Given the description of an element on the screen output the (x, y) to click on. 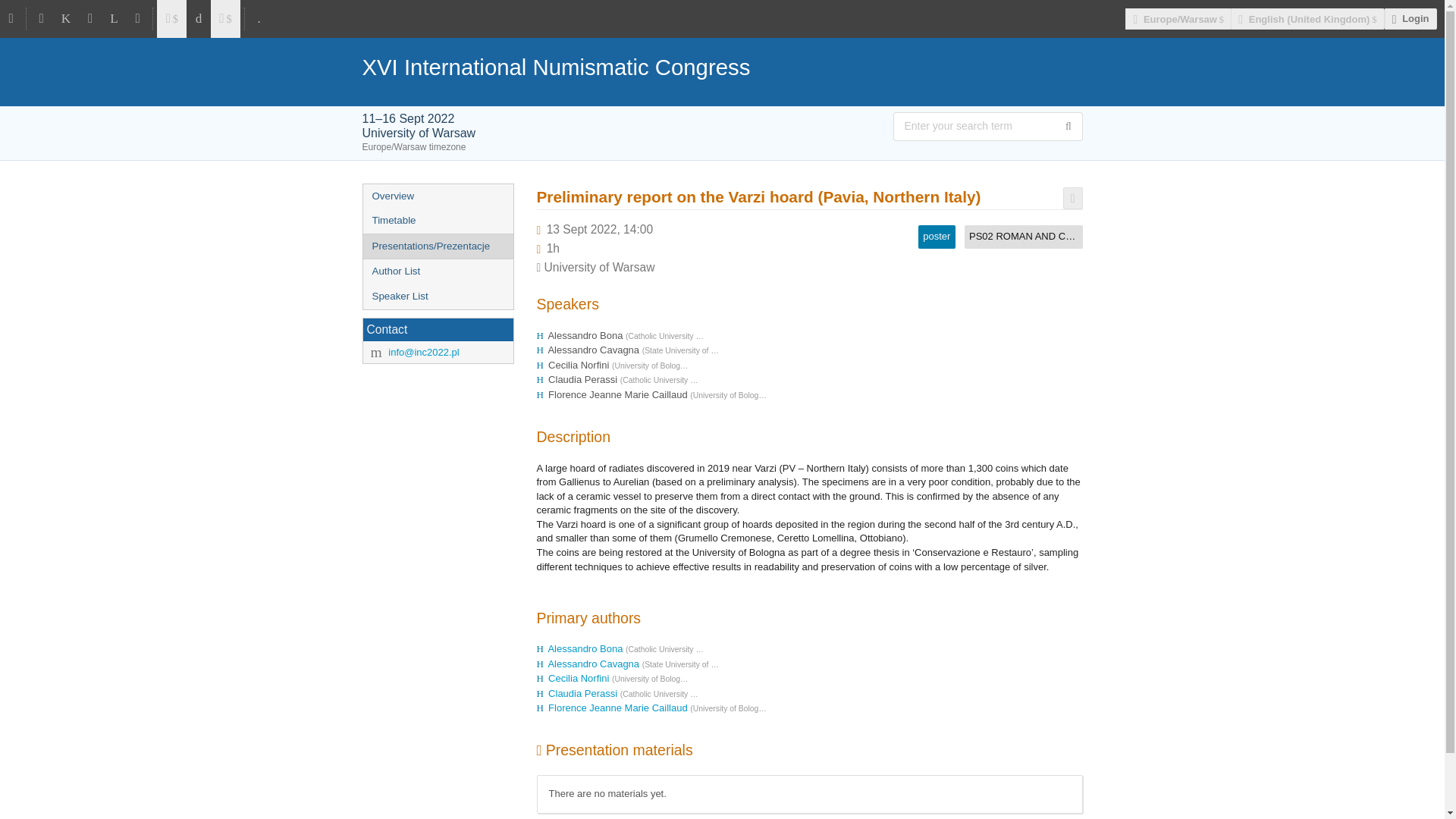
Timetable (437, 220)
XVI International Numismatic Congress (722, 67)
Speaker List (437, 296)
Overview (437, 196)
Login (1410, 19)
Duration (553, 247)
Author List (437, 271)
Export (1072, 198)
